Given the description of an element on the screen output the (x, y) to click on. 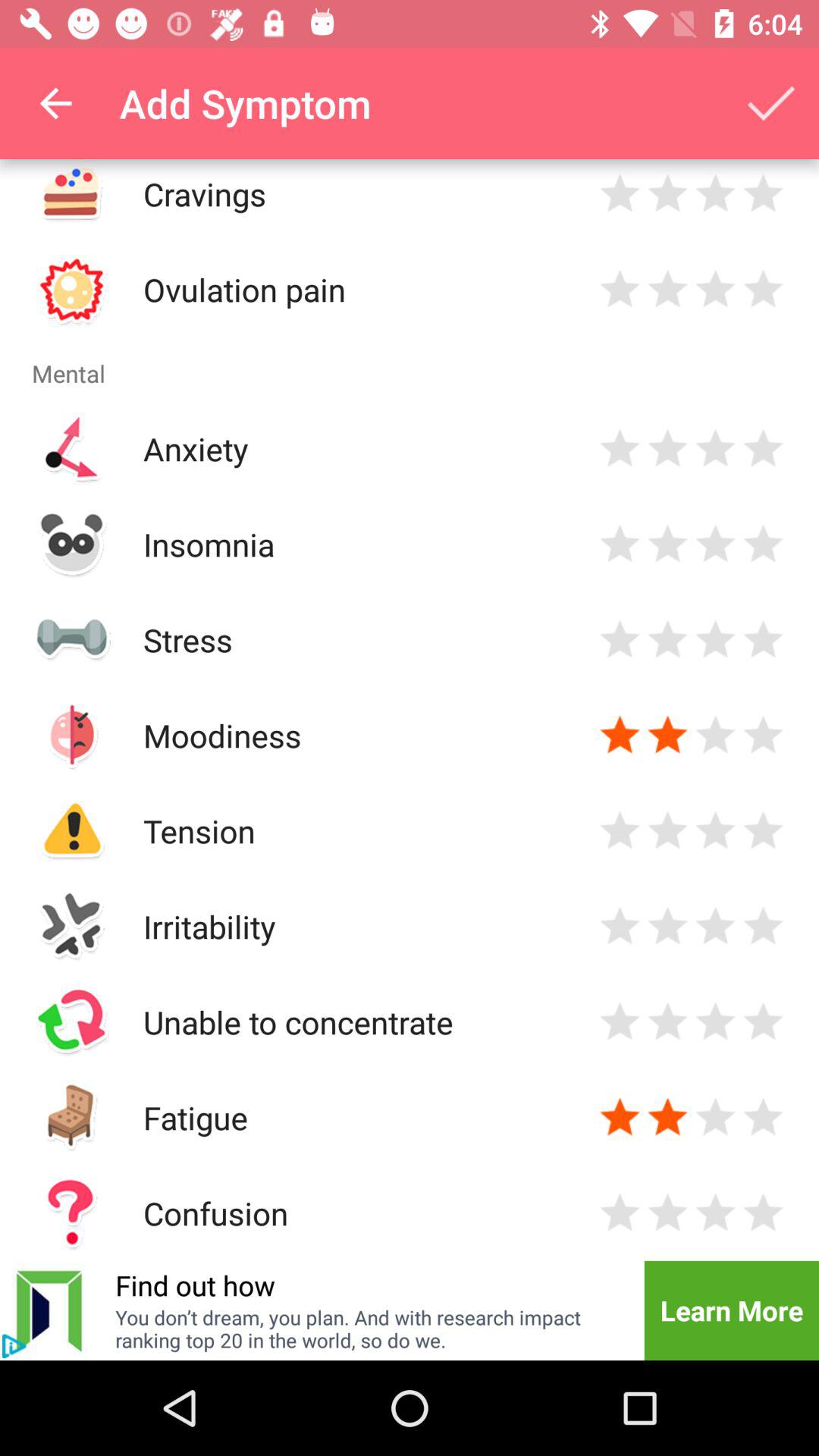
ovulation pain level (715, 289)
